Given the description of an element on the screen output the (x, y) to click on. 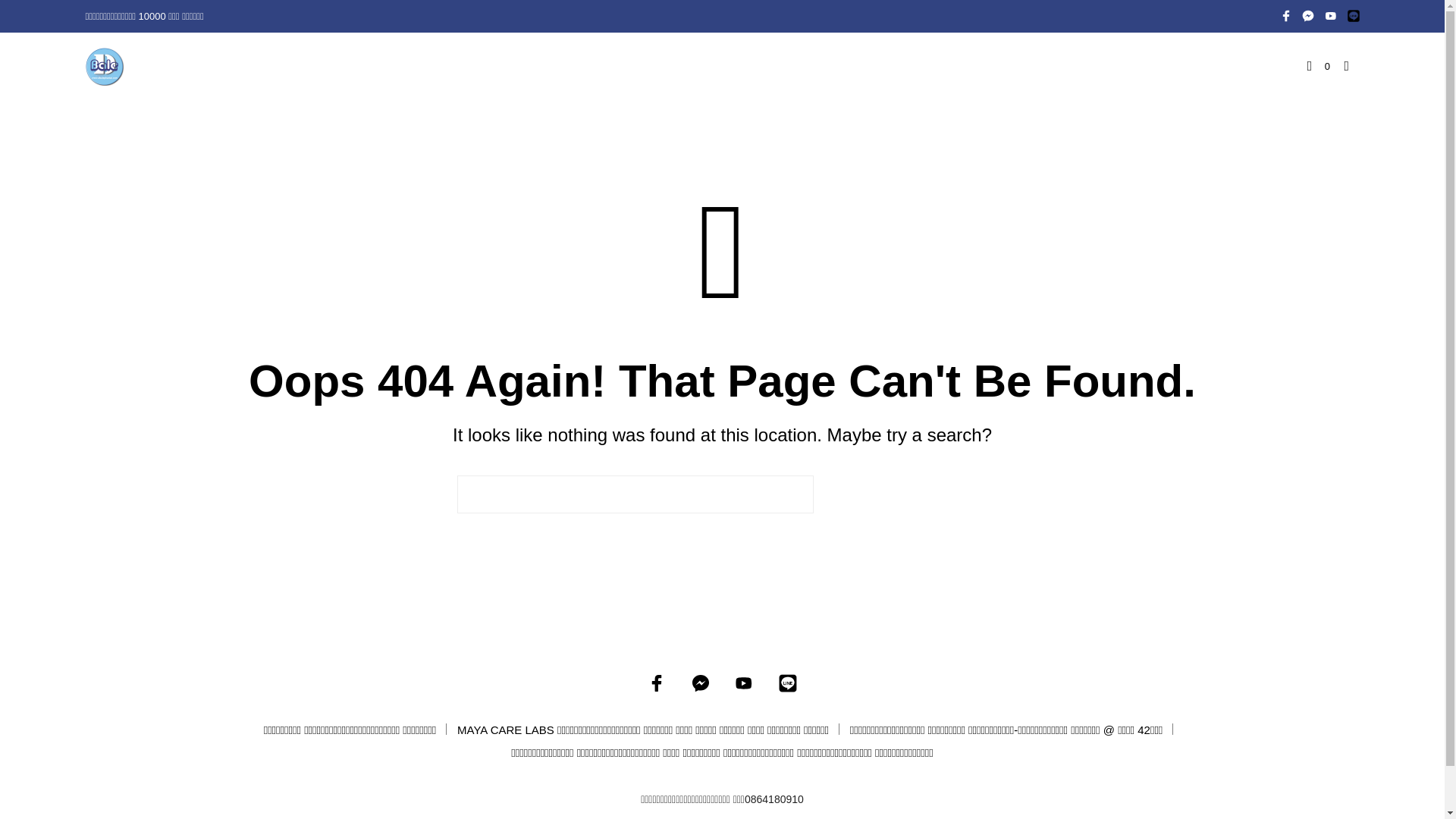
Search (904, 494)
Search (904, 494)
Search (904, 494)
0 (1318, 66)
